Given the description of an element on the screen output the (x, y) to click on. 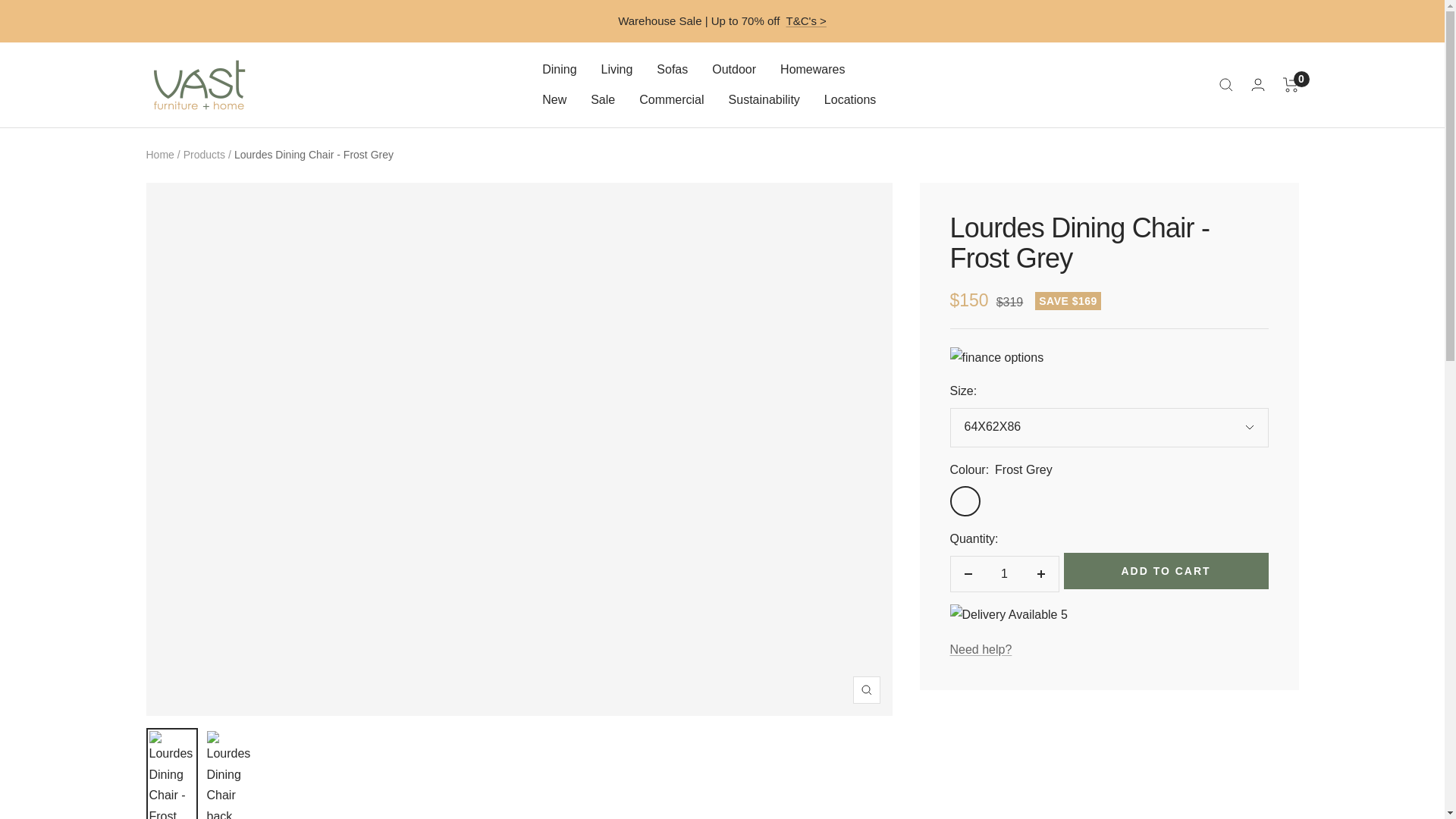
0 (1290, 84)
Dining (558, 69)
Commercial (671, 99)
Sale (602, 99)
Products (204, 154)
Living (617, 69)
Locations (850, 99)
ADD TO CART (1165, 570)
Home (159, 154)
Outdoor (733, 69)
Zoom (865, 689)
Sofas (671, 69)
Sustainability (764, 99)
Need help? (980, 649)
